Given the description of an element on the screen output the (x, y) to click on. 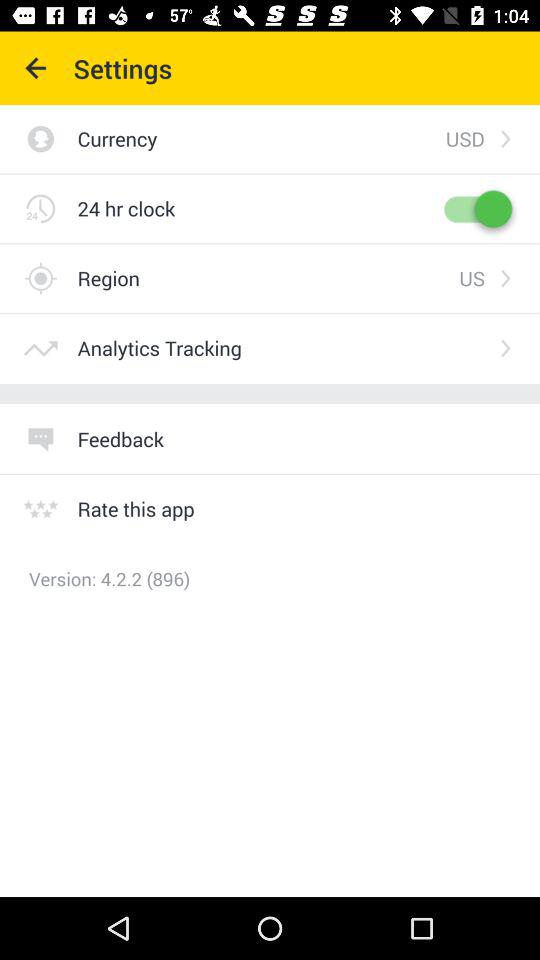
turn on the currency icon (261, 138)
